Given the description of an element on the screen output the (x, y) to click on. 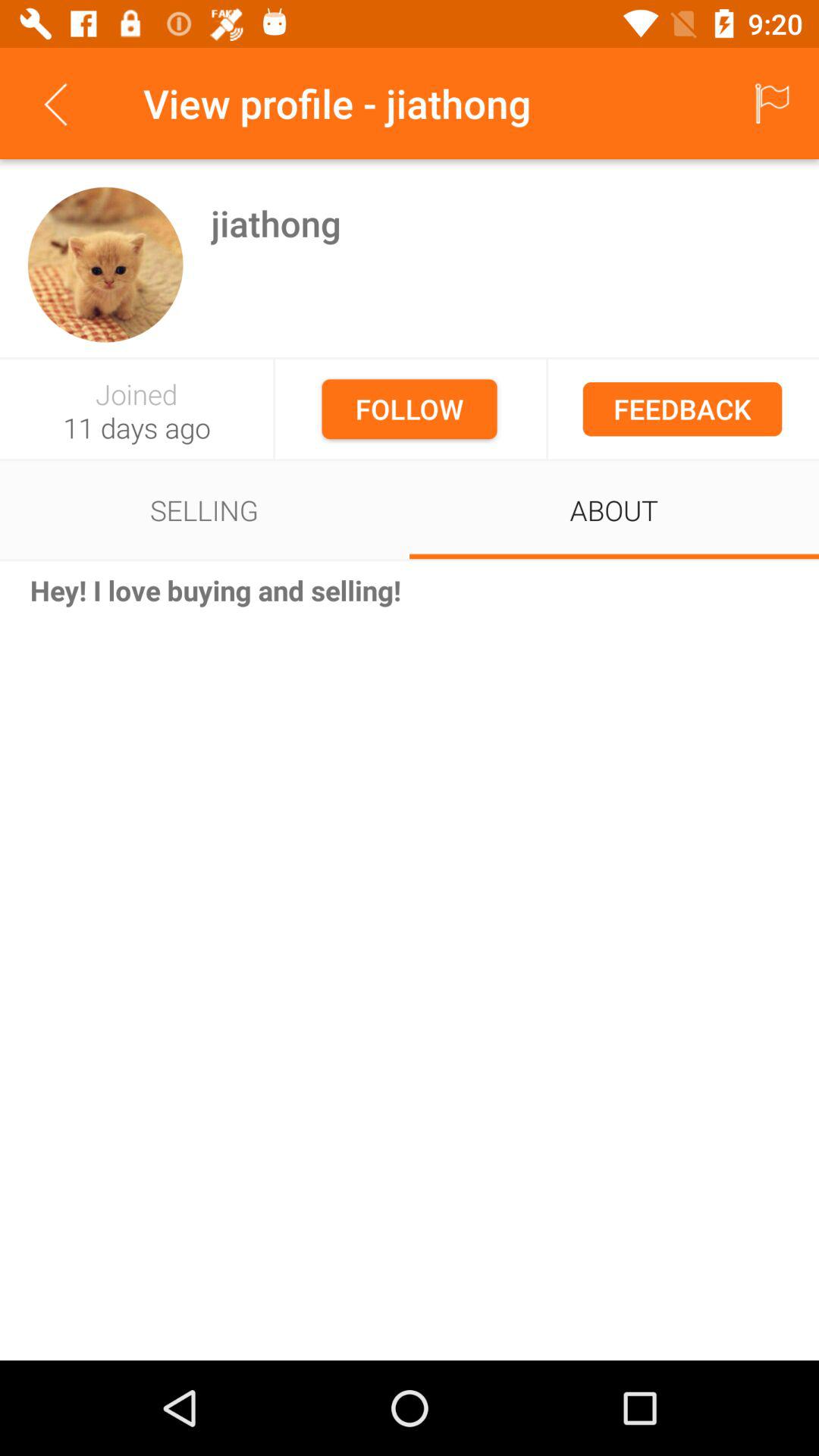
turn off the item next to the jiathong (105, 264)
